Given the description of an element on the screen output the (x, y) to click on. 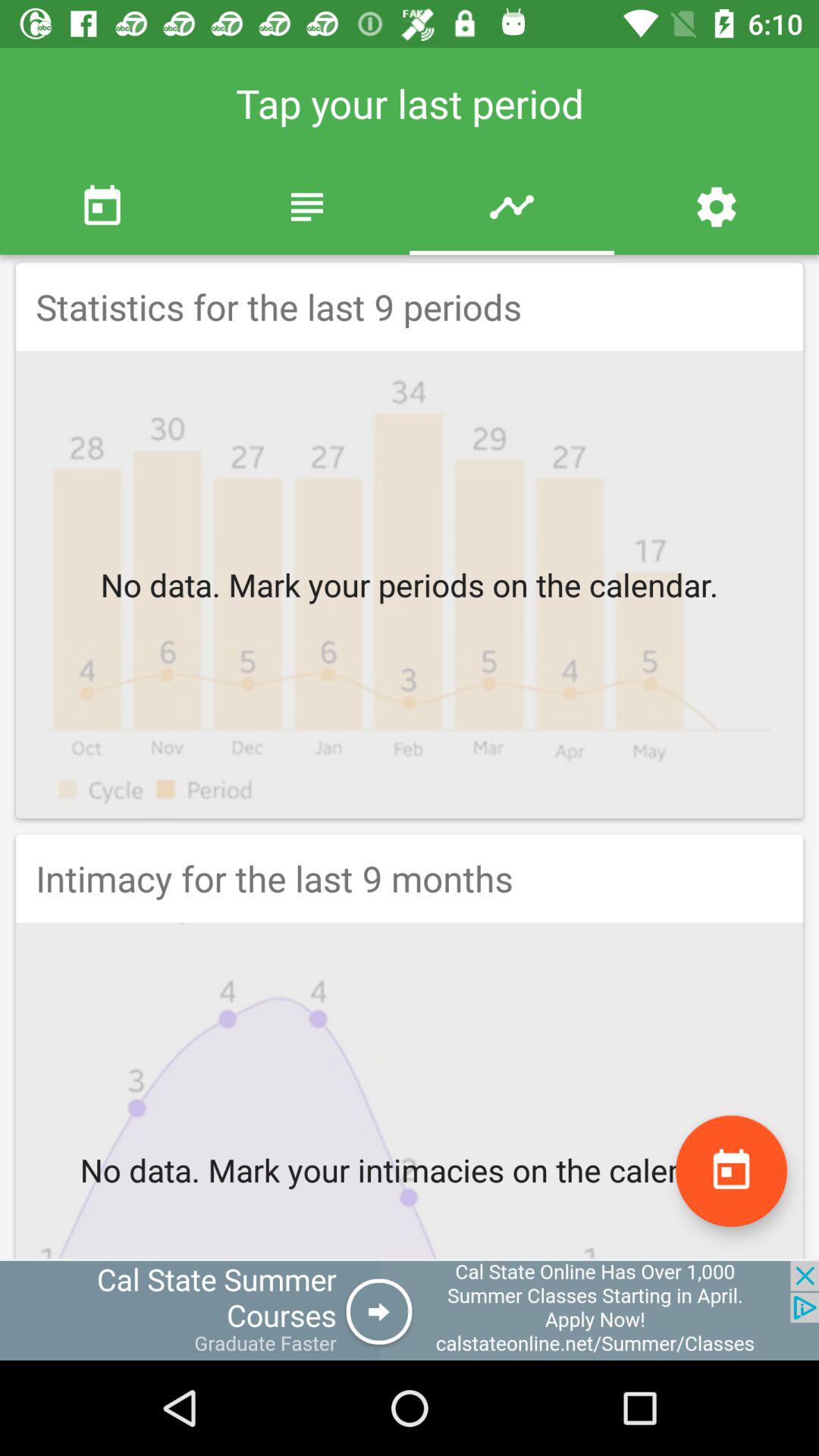
calendar button to view the menstrual cycle (731, 1170)
